Given the description of an element on the screen output the (x, y) to click on. 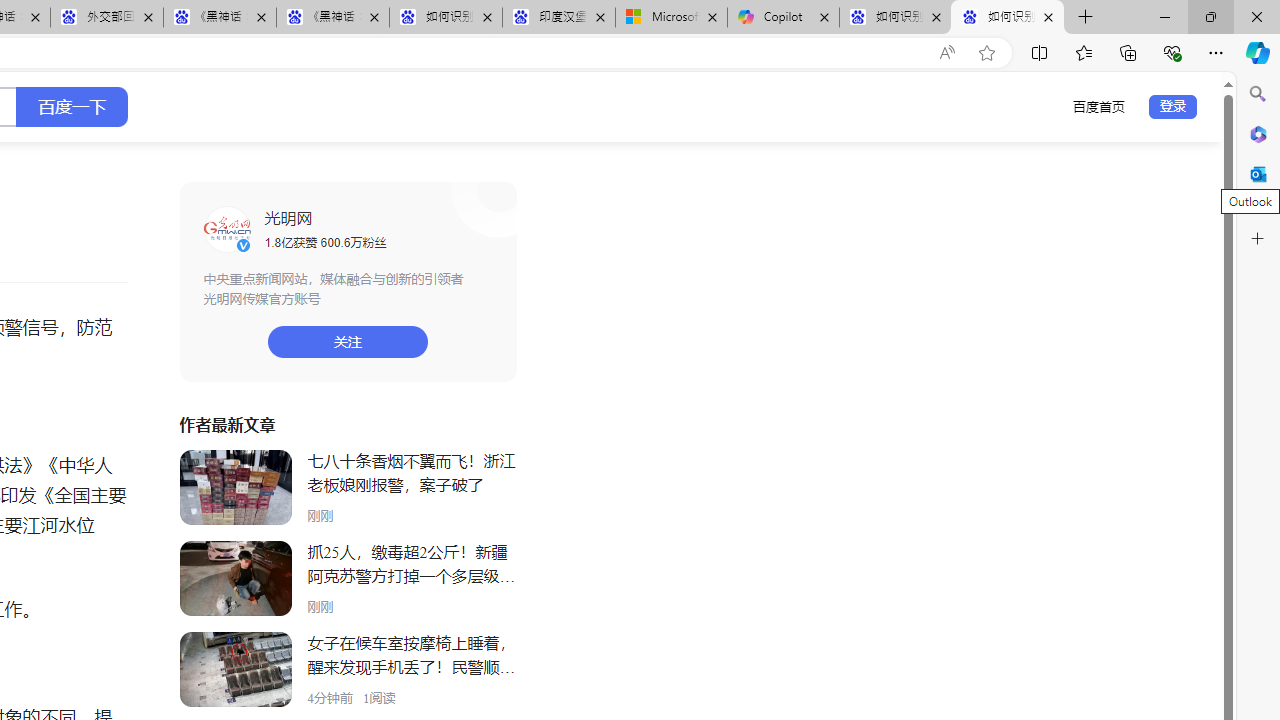
Copilot (783, 17)
To get missing image descriptions, open the context menu. (226, 228)
